Given the description of an element on the screen output the (x, y) to click on. 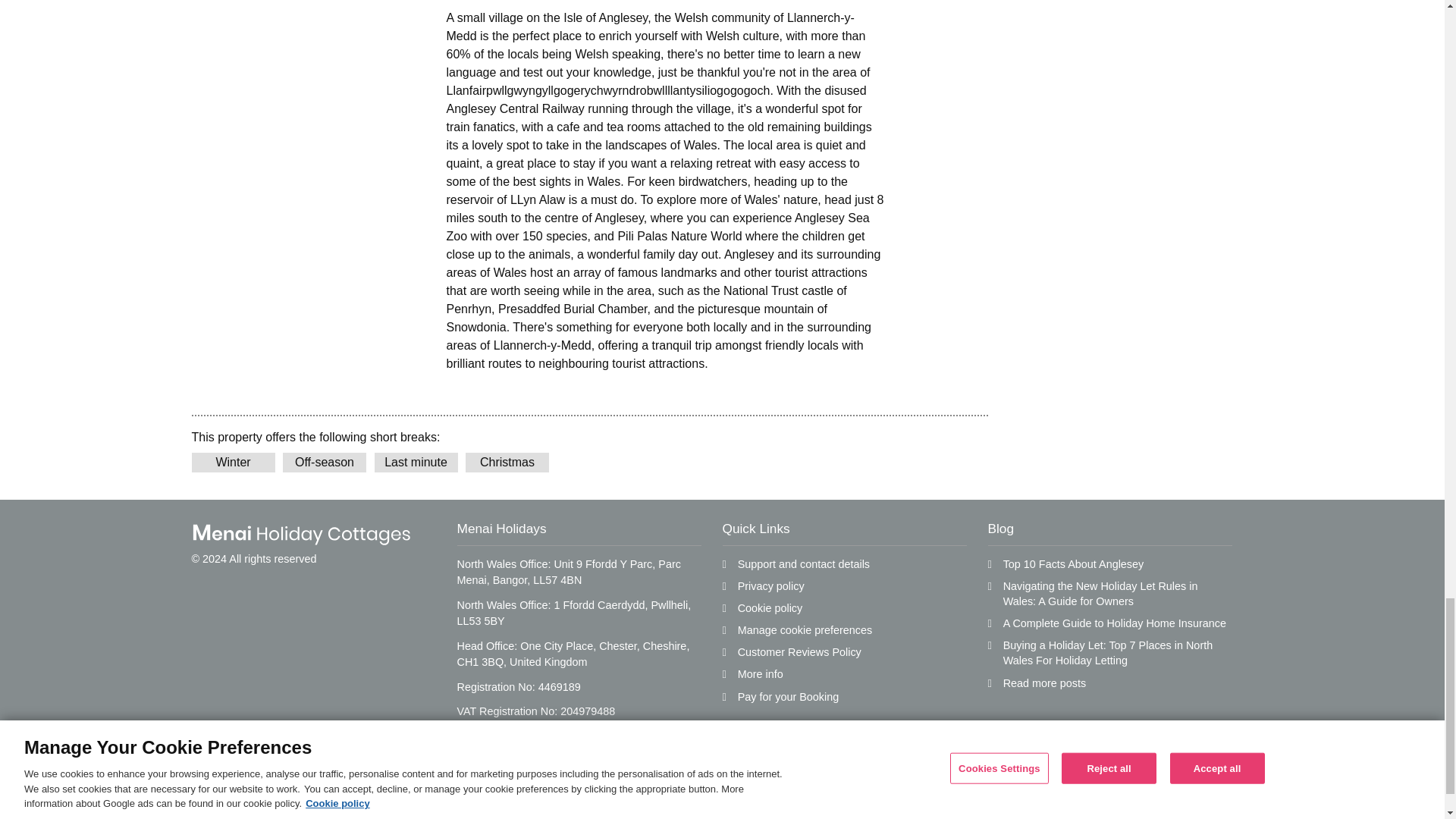
Menai Holiday Cottages (300, 535)
